Given the description of an element on the screen output the (x, y) to click on. 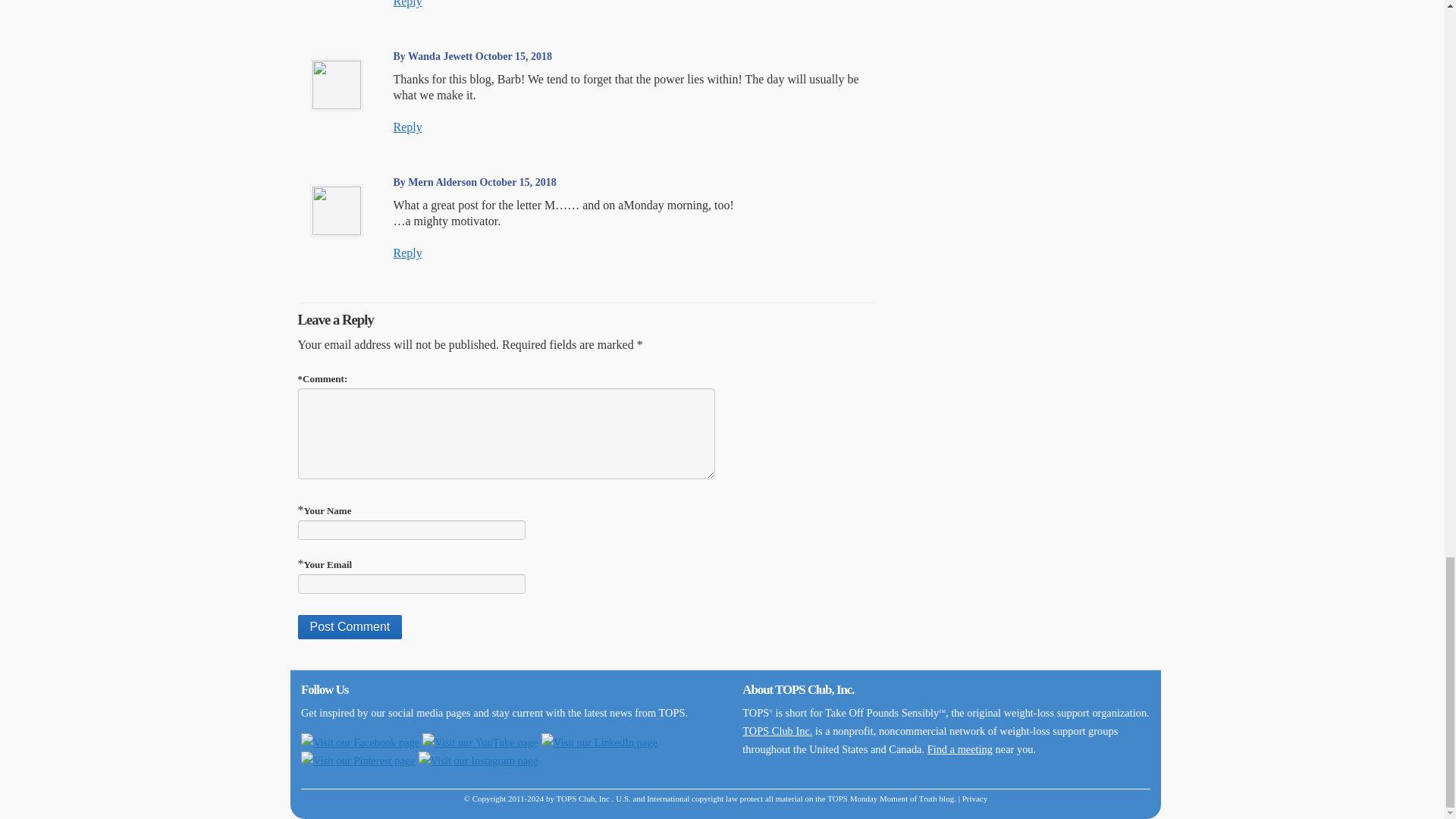
Reply (407, 126)
Reply (407, 252)
Post Comment (349, 627)
Reply (407, 3)
